Given the description of an element on the screen output the (x, y) to click on. 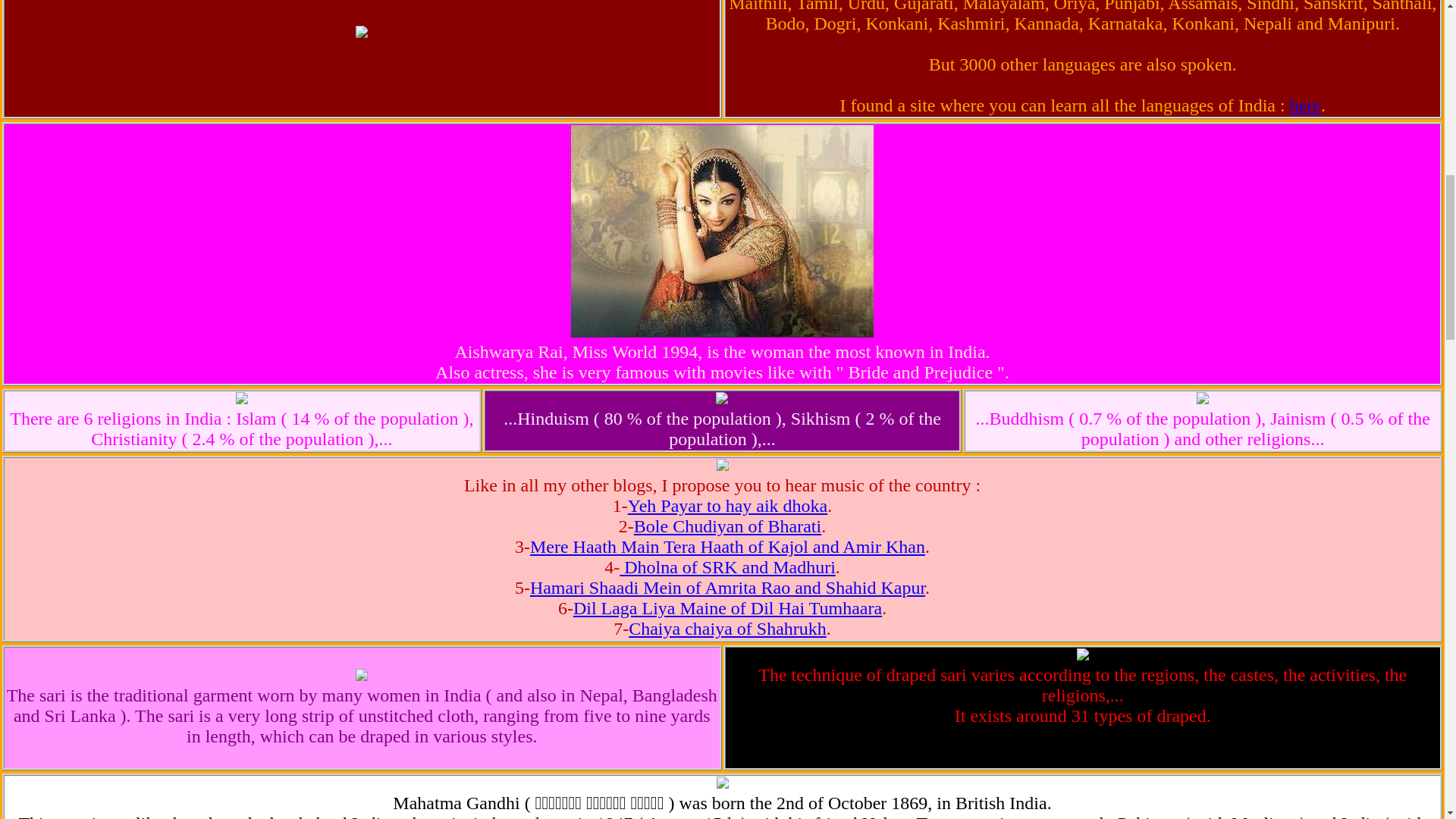
Dholna of SRK and Madhuri (727, 567)
Dil Laga Liya Maine of Dil Hai Tumhaara (727, 608)
Mere Haath Main Tera Haath of Kajol and Amir Khan (726, 546)
Chaiya chaiya of Shahrukh (727, 628)
here (1305, 105)
Bole Chudiyan of Bharati (727, 526)
Hamari Shaadi Mein of Amrita Rao and Shahid Kapur (726, 587)
Yeh Payar to hay aik dhoka (727, 505)
